Given the description of an element on the screen output the (x, y) to click on. 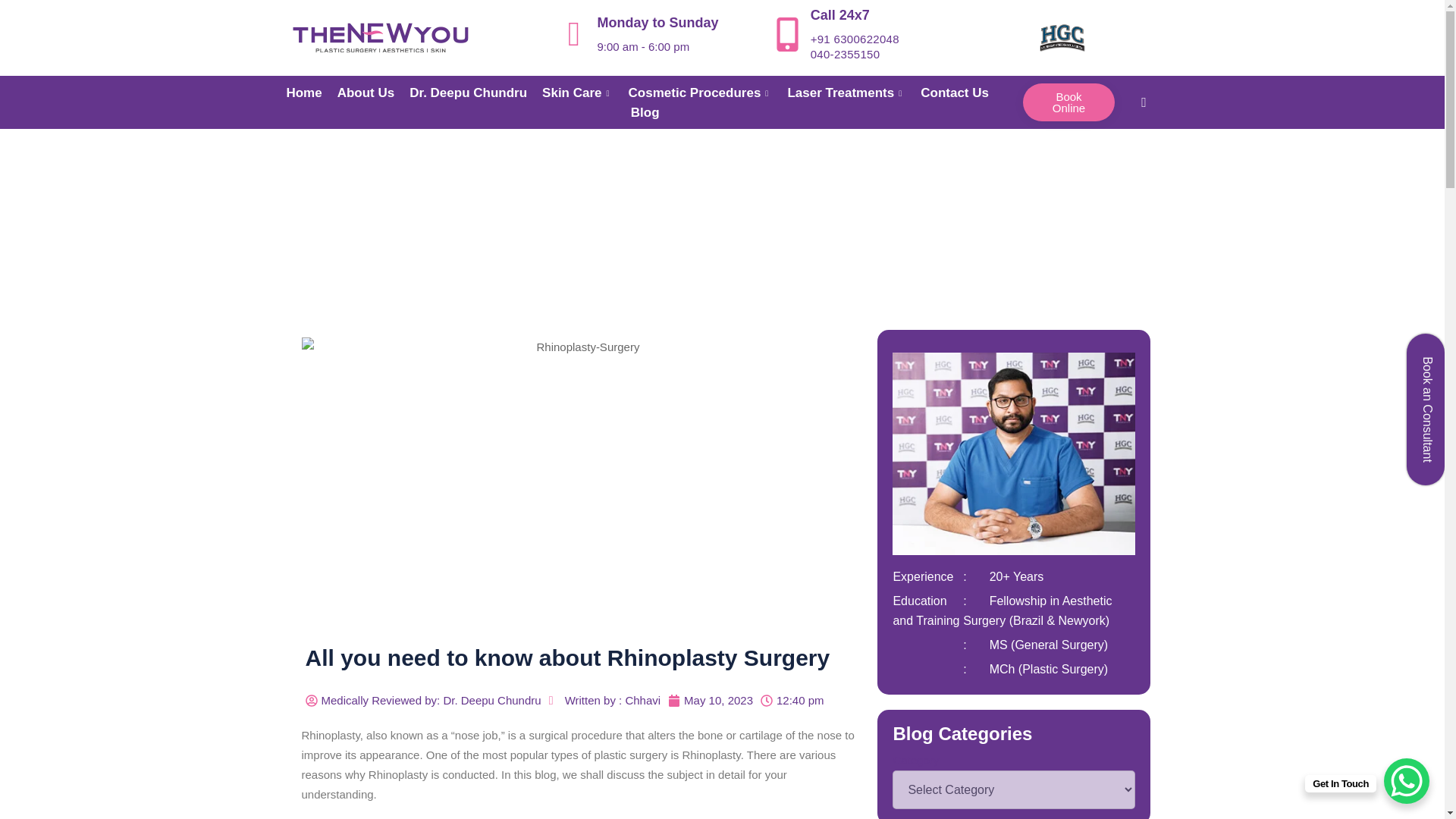
About Us (373, 93)
Dr. Deepu Chundru (475, 93)
Home (310, 93)
Laser Treatments (853, 93)
Skin Care (584, 93)
Cosmetic Procedures (707, 93)
